Given the description of an element on the screen output the (x, y) to click on. 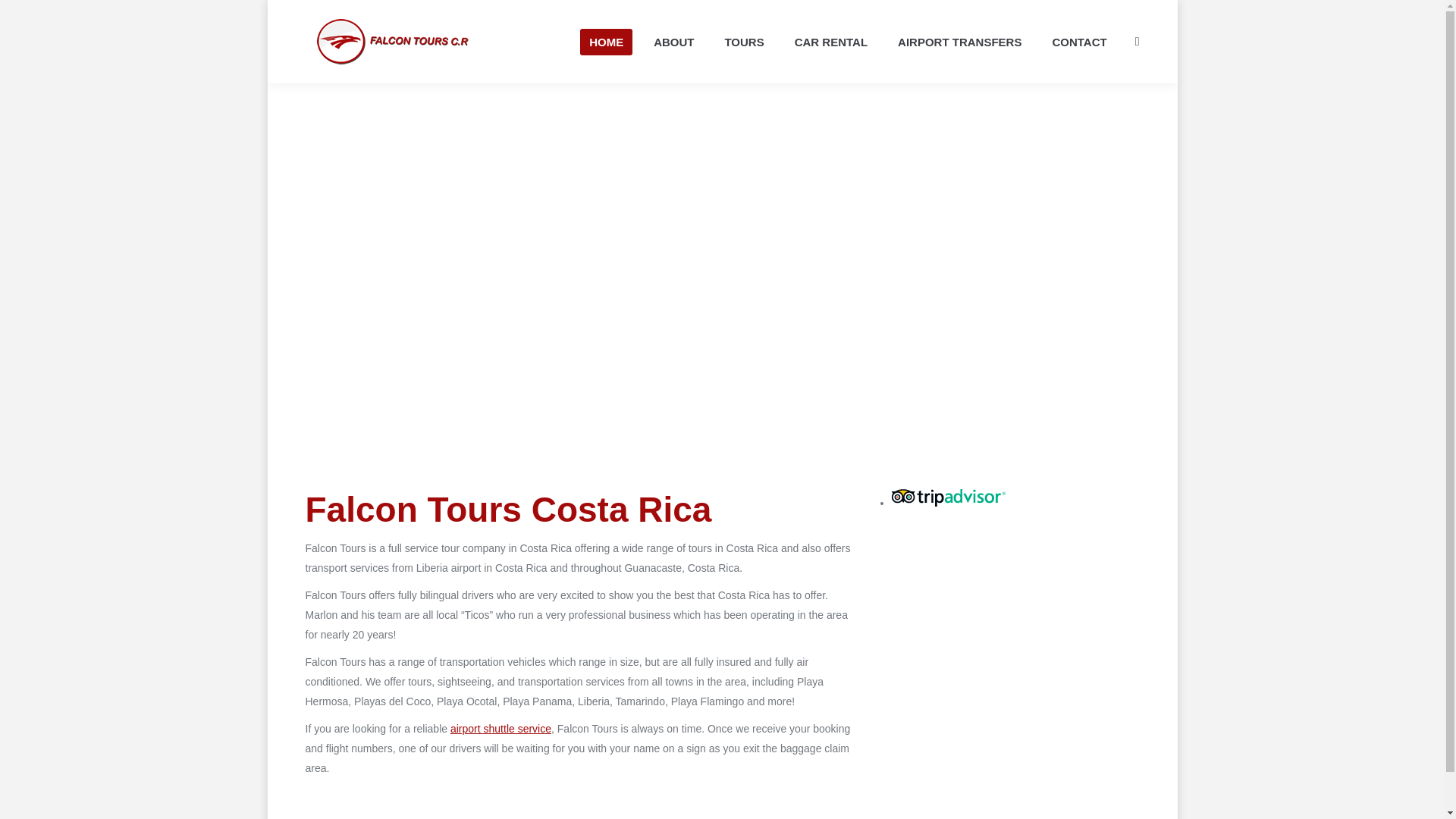
CAR RENTAL (831, 41)
HOME (605, 41)
AIRPORT TRANSFERS (959, 41)
Go! (22, 15)
TOURS (743, 41)
airport shuttle service (500, 728)
CONTACT (1078, 41)
ABOUT (674, 41)
